Given the description of an element on the screen output the (x, y) to click on. 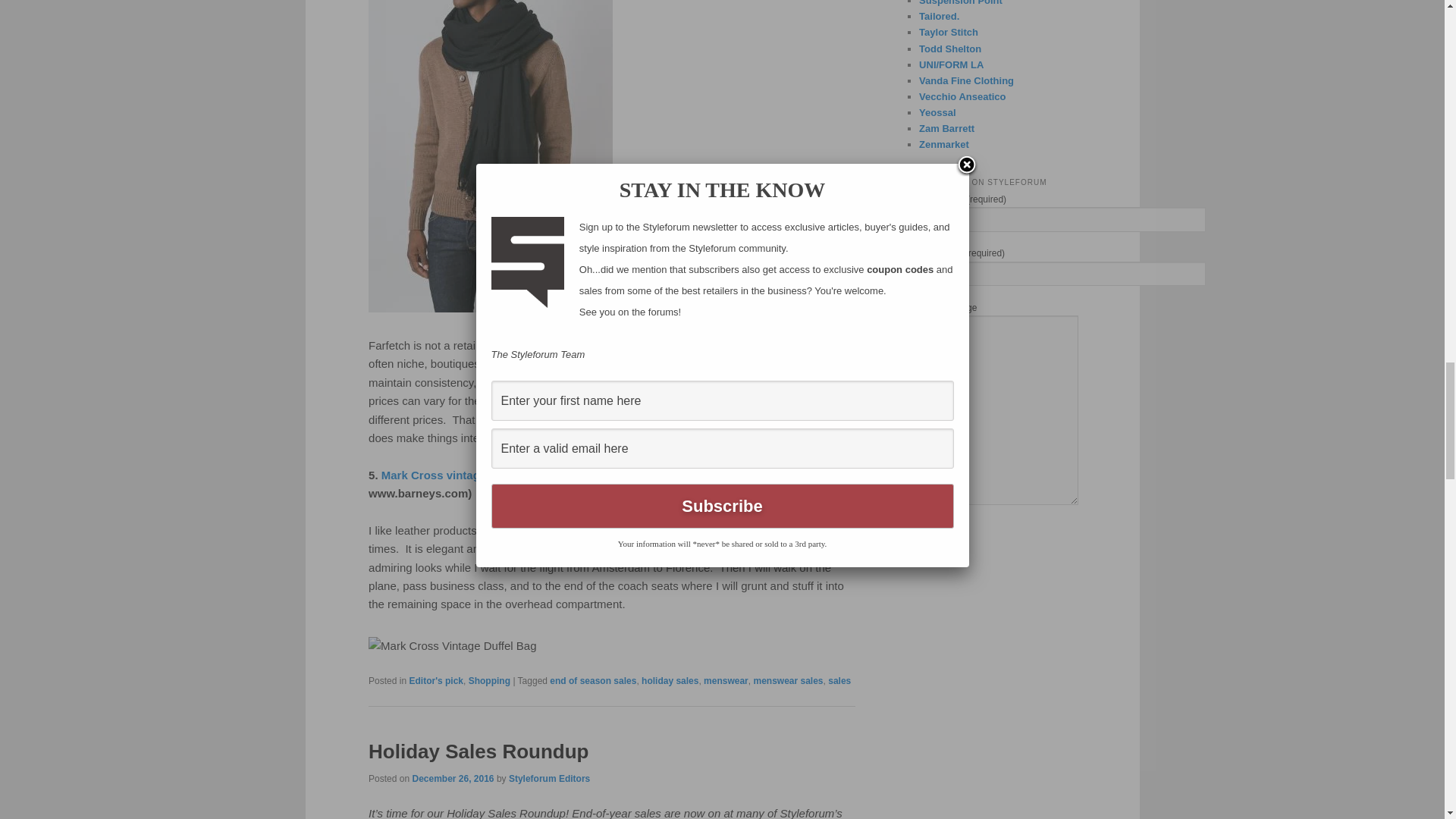
holiday sales (670, 680)
Mark Cross vintage Duffel bag (462, 474)
Shopping (489, 680)
7:20 pm (452, 778)
View all posts by Styleforum Editors (548, 778)
Editor's pick (436, 680)
Send (938, 538)
end of season sales (593, 680)
